Given the description of an element on the screen output the (x, y) to click on. 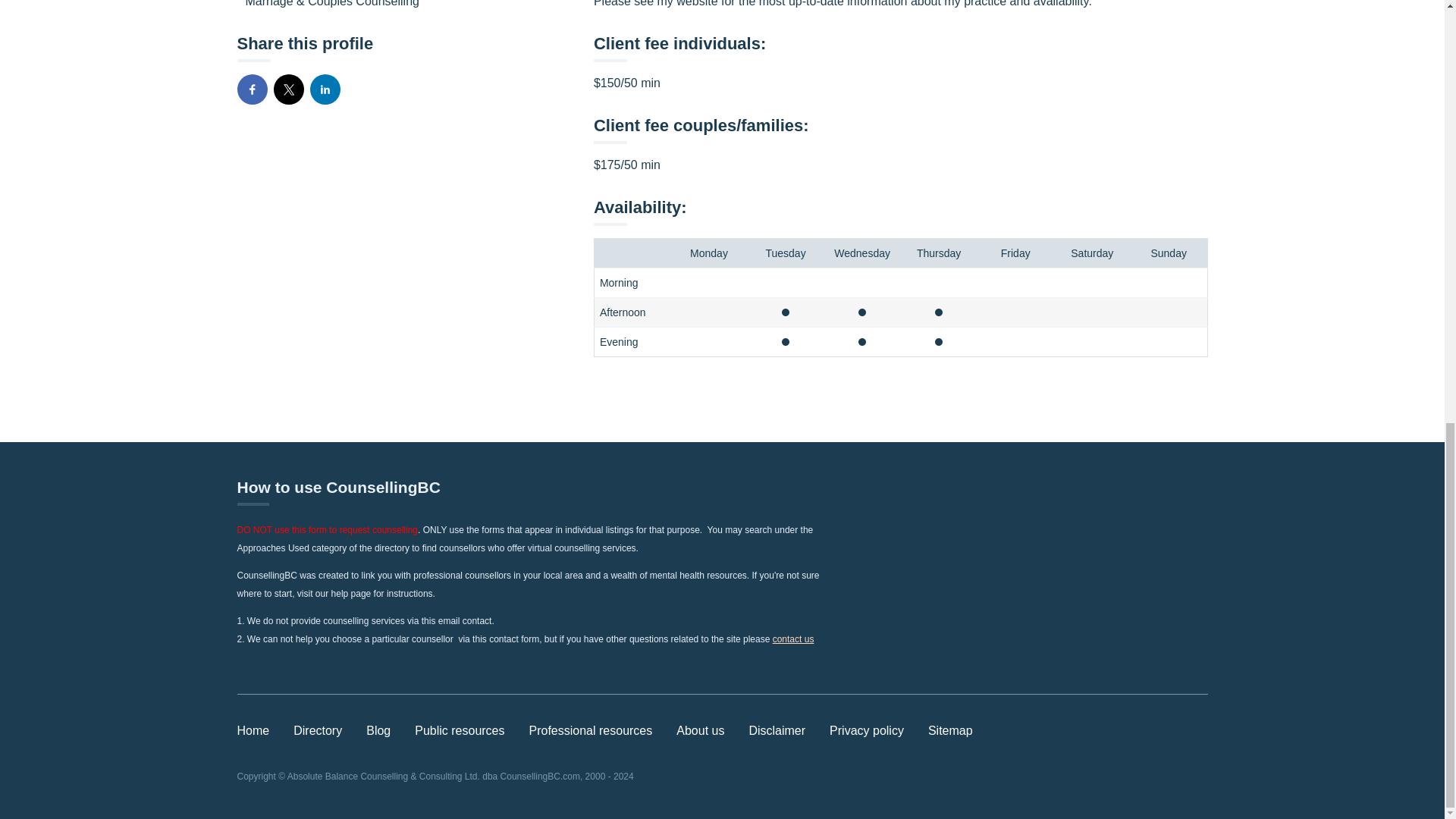
Home (252, 730)
Directory (318, 730)
Sitemap (950, 730)
Disclaimer (776, 730)
About us (700, 730)
Professional resources (590, 730)
contact us (793, 638)
Privacy policy (866, 730)
Blog (378, 730)
Public resources (458, 730)
